Given the description of an element on the screen output the (x, y) to click on. 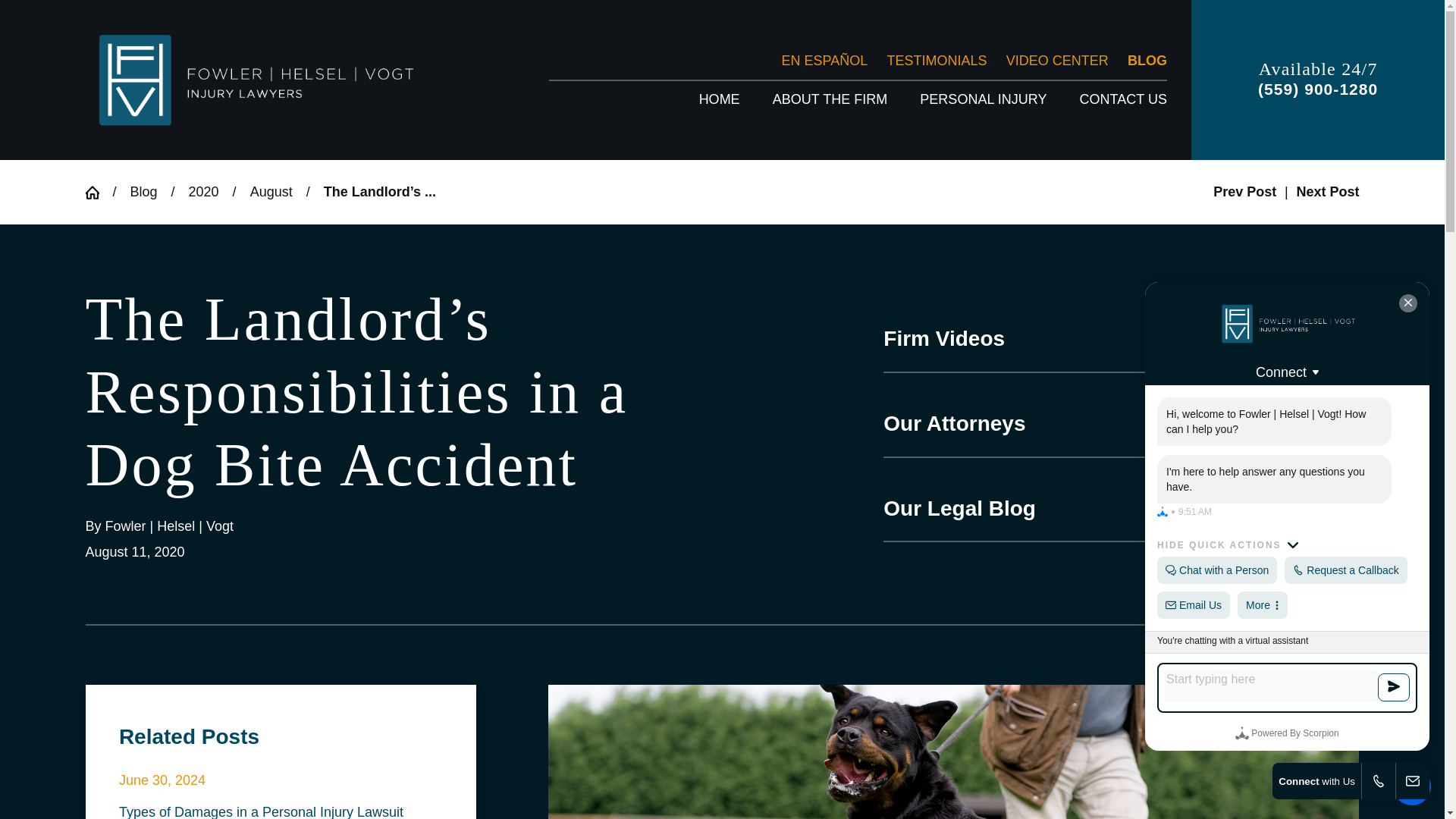
ABOUT THE FIRM (829, 99)
BLOG (1146, 60)
Open the accessibility options menu (1412, 786)
PERSONAL INJURY (983, 99)
HOME (718, 99)
Go Home (98, 192)
VIDEO CENTER (1057, 60)
TESTIMONIALS (936, 60)
